Given the description of an element on the screen output the (x, y) to click on. 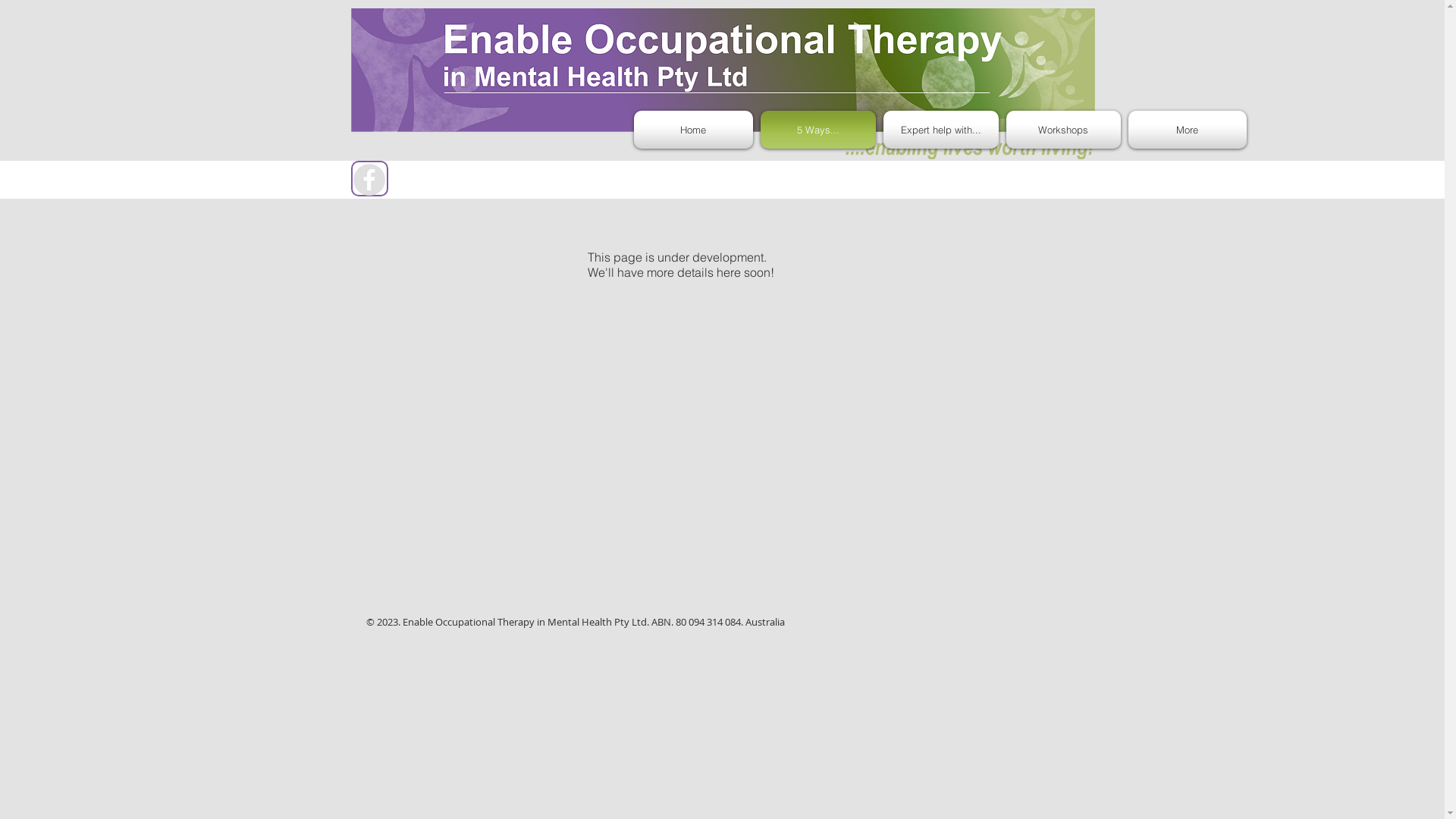
5 Ways... Element type: text (817, 129)
Home Element type: text (694, 129)
Workshops Element type: text (1063, 129)
Expert help with... Element type: text (940, 129)
